Given the description of an element on the screen output the (x, y) to click on. 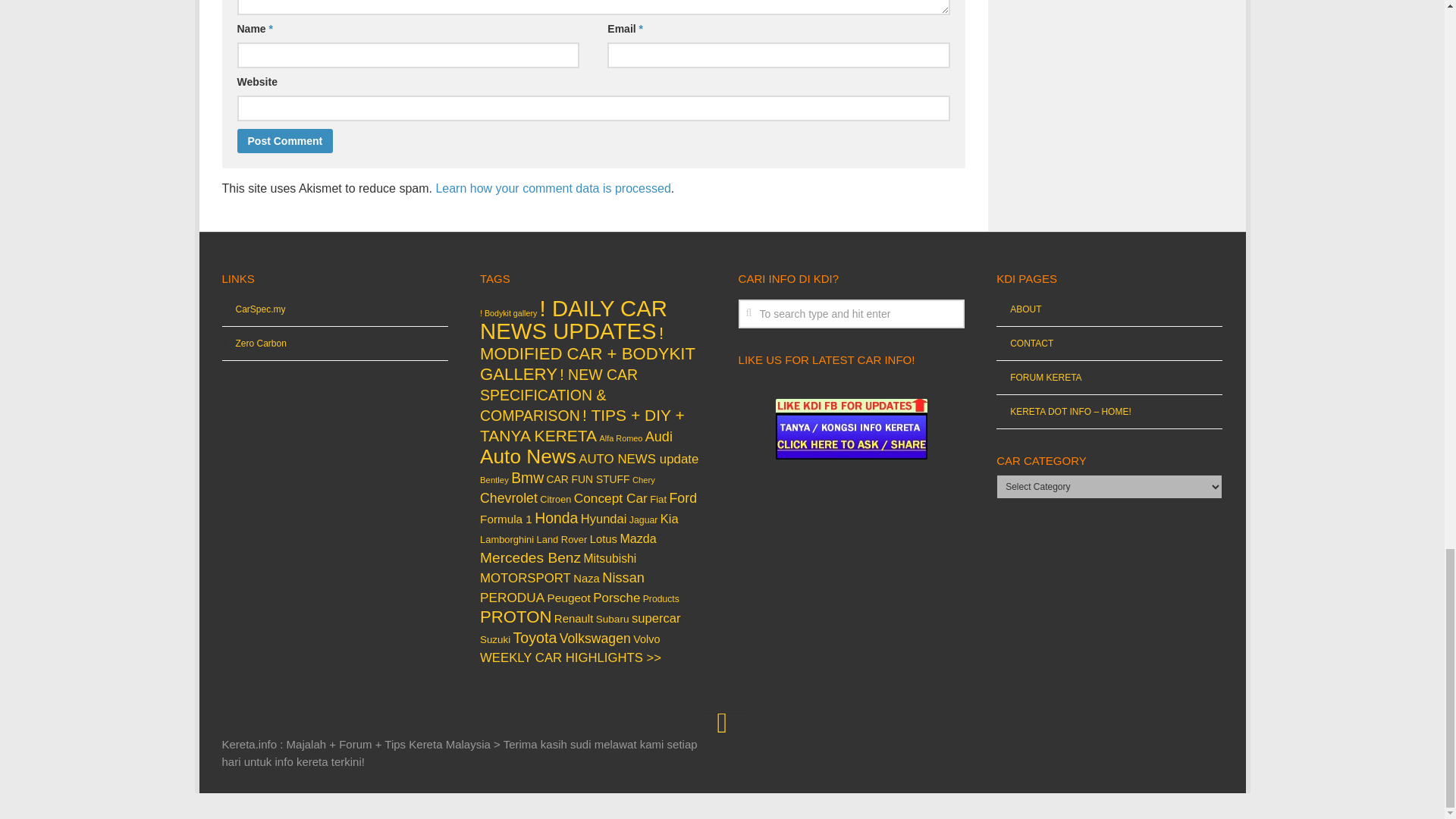
Post Comment (284, 140)
! DAILY CAR NEWS UPDATES (573, 319)
To search type and hit enter (850, 313)
zero carbon malaysia (253, 343)
Malaysia car spec (253, 308)
CarSpec.my (253, 308)
To search type and hit enter (850, 313)
Zero Carbon (253, 343)
Learn how your comment data is processed (552, 187)
! Bodykit gallery (508, 312)
